Given the description of an element on the screen output the (x, y) to click on. 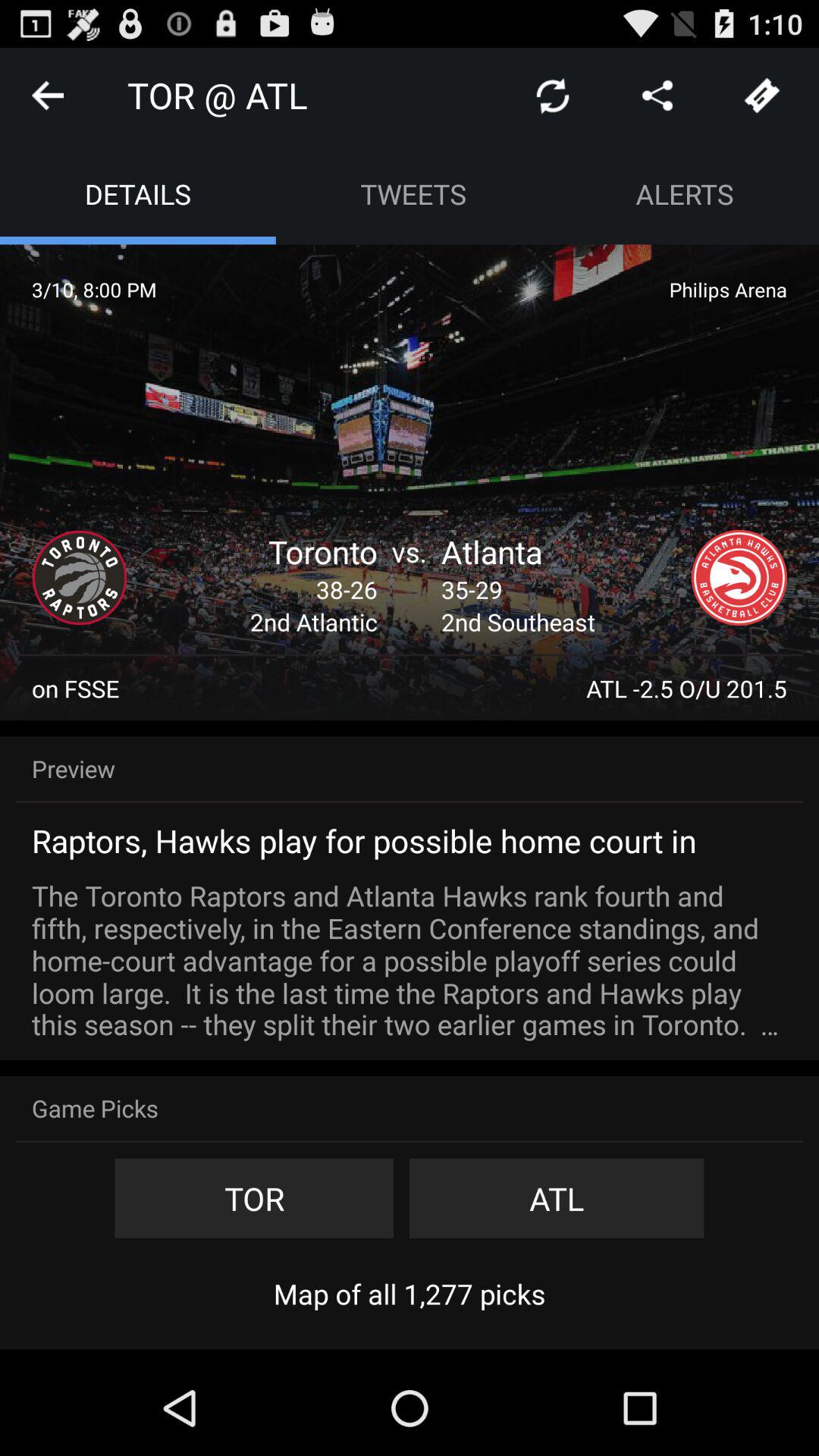
click icon next to the tor @ atl app (552, 95)
